Given the description of an element on the screen output the (x, y) to click on. 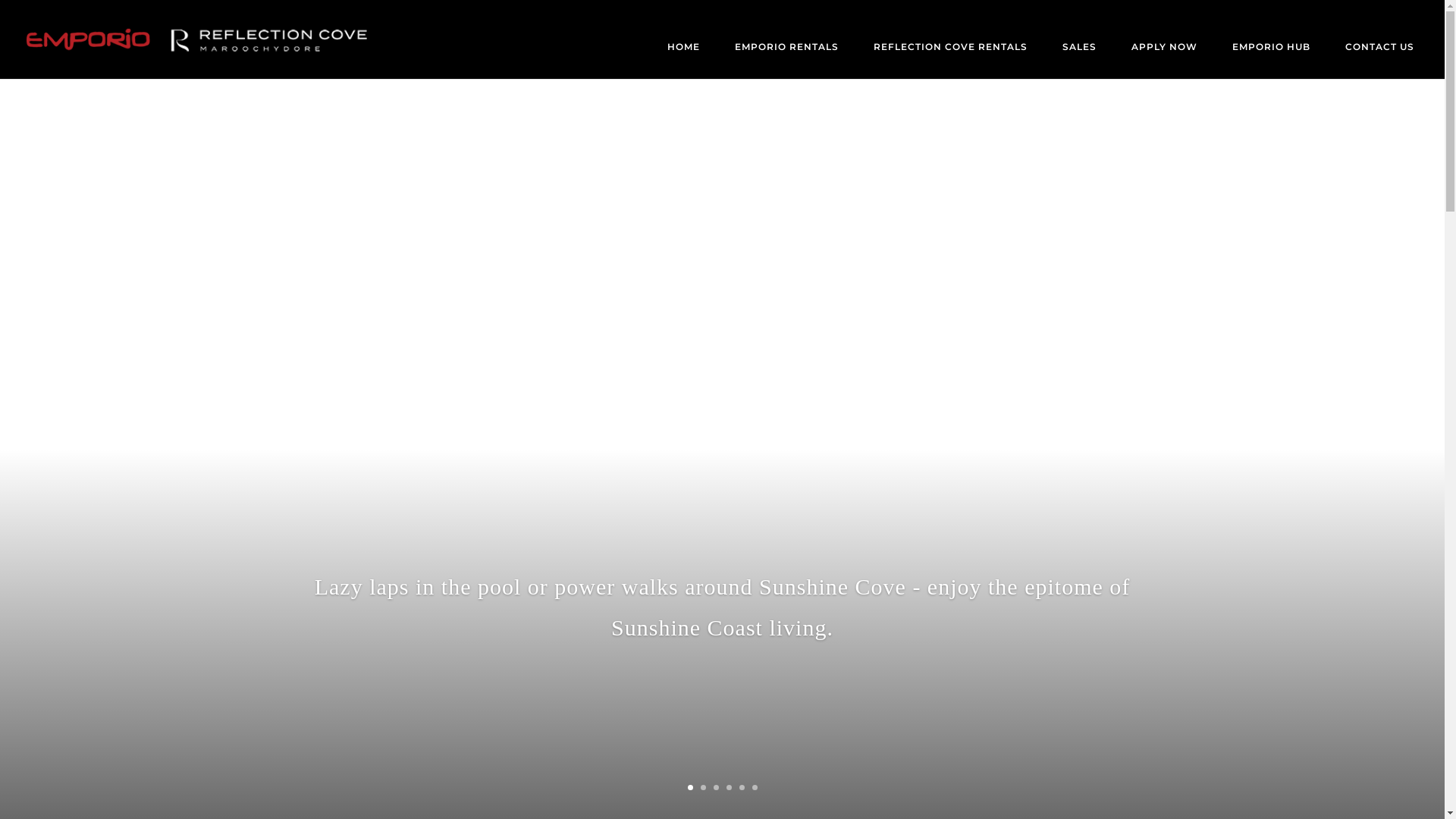
EMPORIO RENTALS Element type: text (786, 60)
REFLECTION COVE RENTALS Element type: text (950, 60)
1 Element type: text (689, 786)
CONTACT US Element type: text (1379, 60)
EMPORIO HUB Element type: text (1270, 60)
5 Element type: text (740, 786)
HOME Element type: text (683, 60)
APPLY NOW Element type: text (1163, 60)
3 Element type: text (715, 786)
6 Element type: text (754, 786)
4 Element type: text (728, 786)
SALES Element type: text (1079, 60)
2 Element type: text (703, 786)
